Given the description of an element on the screen output the (x, y) to click on. 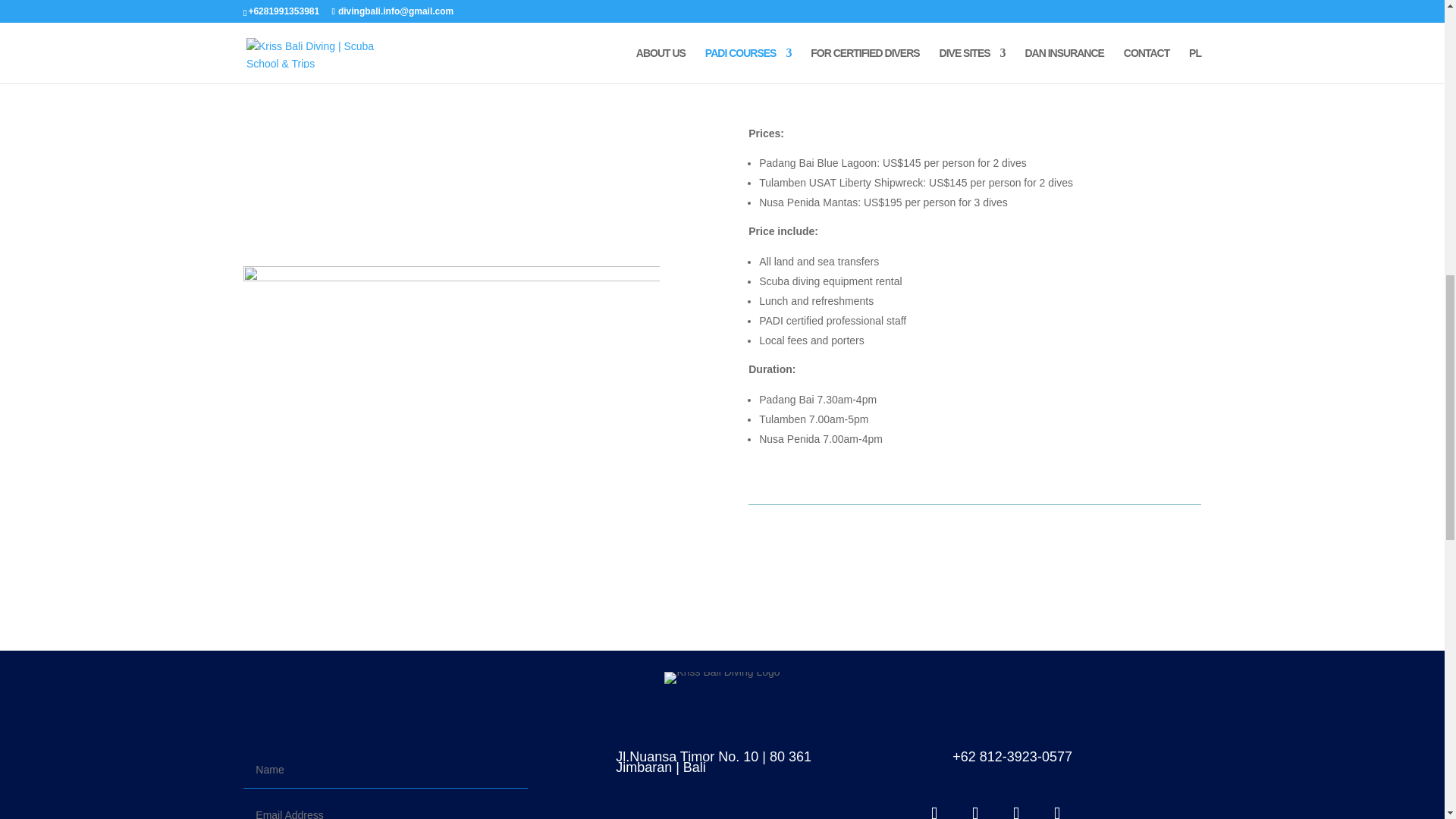
Follow on Youtube (1015, 807)
Follow on Facebook (934, 807)
Follow on Telegram (1056, 807)
Follow on Instagram (975, 807)
